Given the description of an element on the screen output the (x, y) to click on. 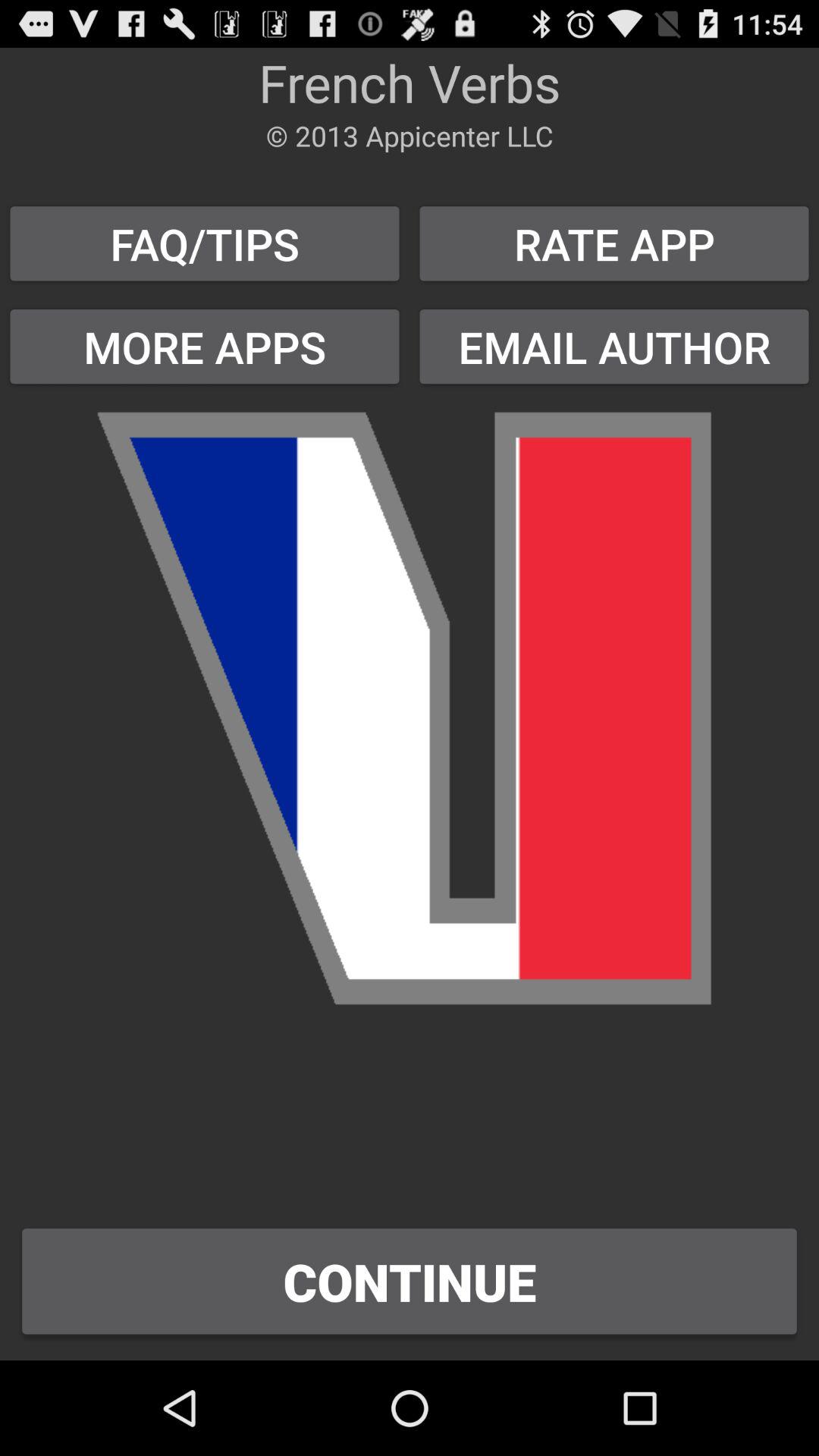
turn off icon next to the faq/tips button (613, 243)
